Given the description of an element on the screen output the (x, y) to click on. 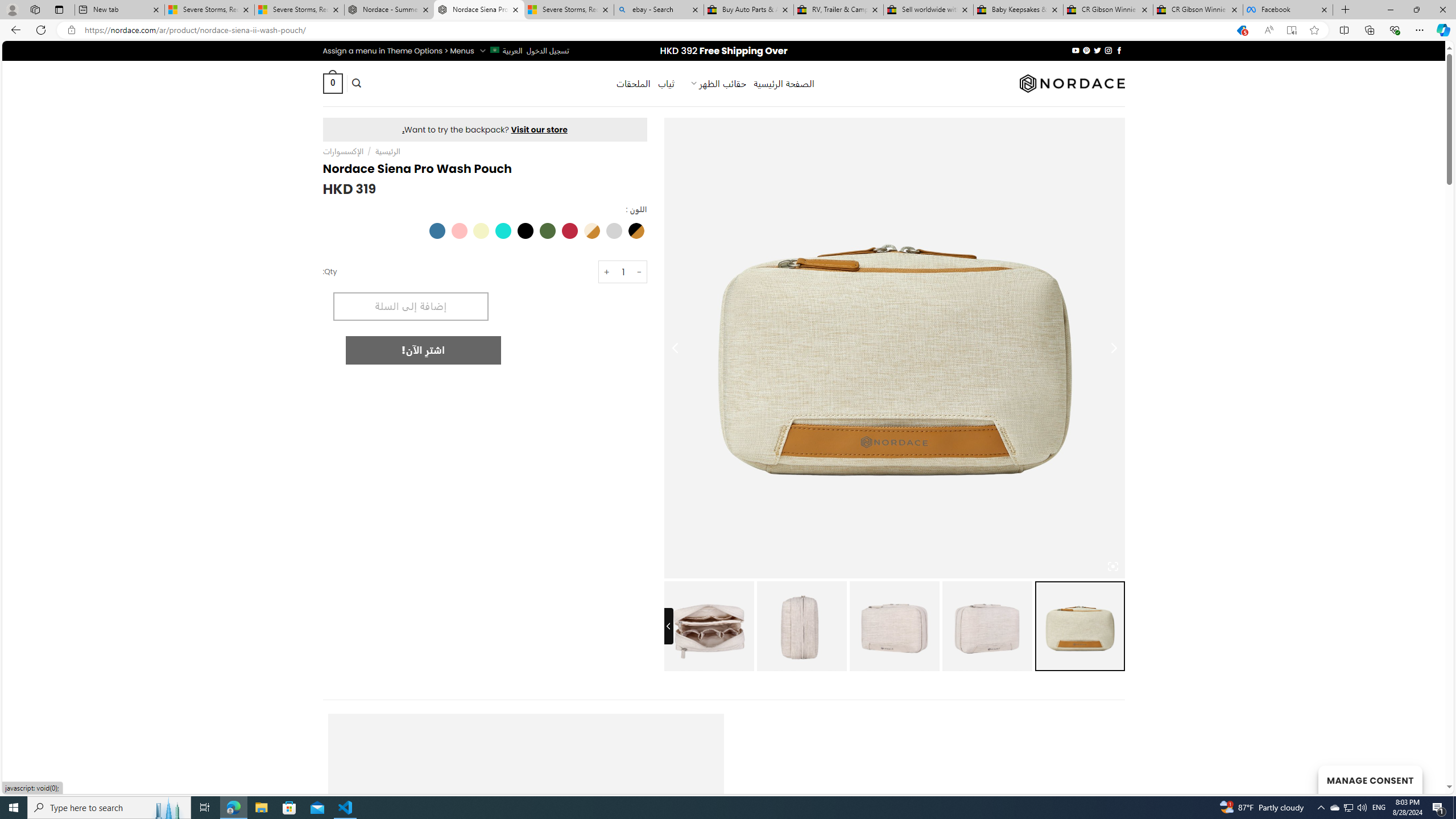
Follow on Twitter (1096, 50)
Nordace Siena Pro Wash Pouch (708, 625)
